Given the description of an element on the screen output the (x, y) to click on. 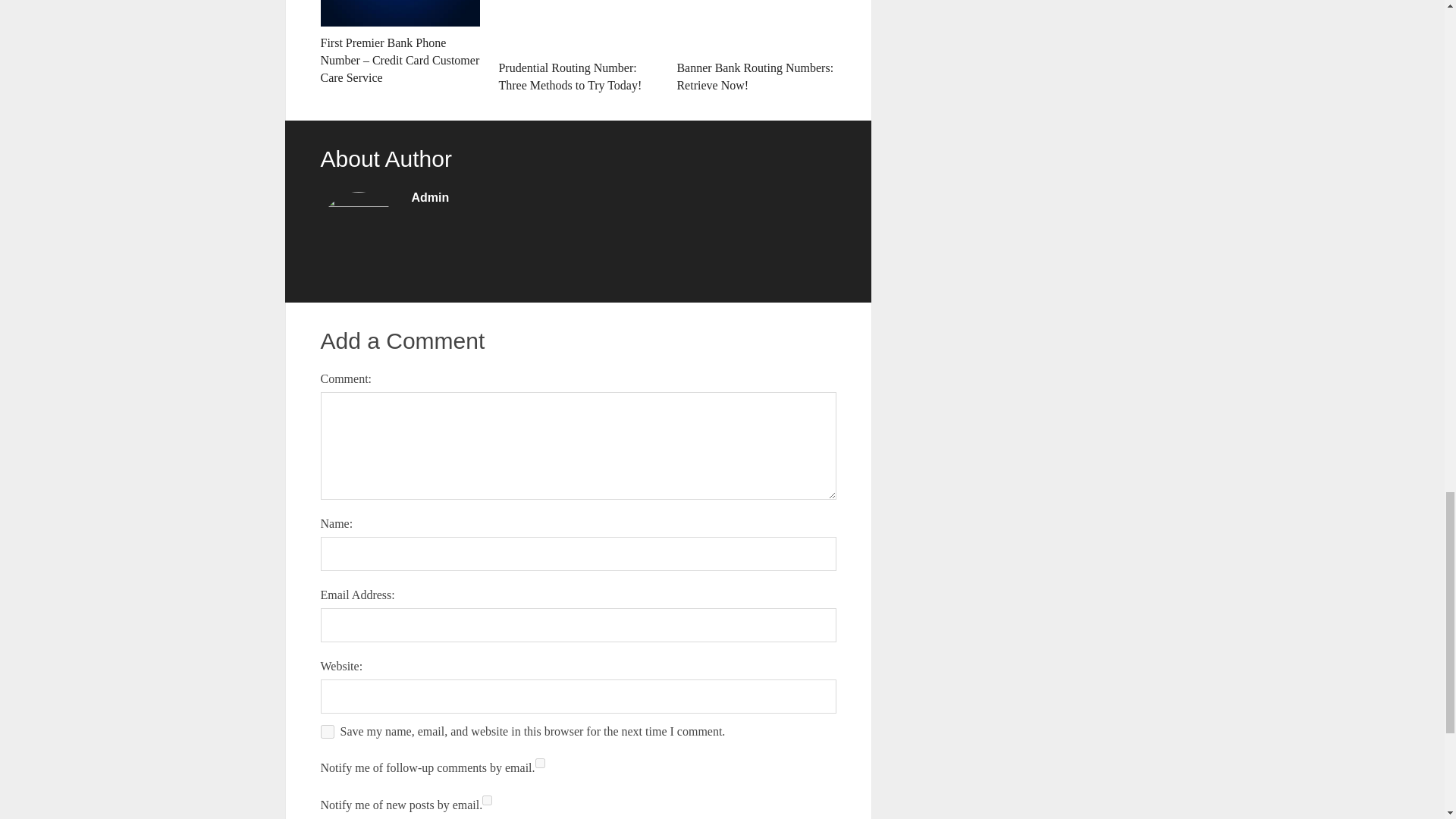
Banner Bank Routing Numbers: Retrieve Now! (756, 47)
yes (326, 731)
subscribe (486, 800)
subscribe (539, 763)
Prudential Routing Number: Three Methods to Try Today! (577, 47)
Prudential Routing Number: Three Methods to Try Today! (577, 47)
Banner Bank Routing Numbers: Retrieve Now! (756, 47)
